Given the description of an element on the screen output the (x, y) to click on. 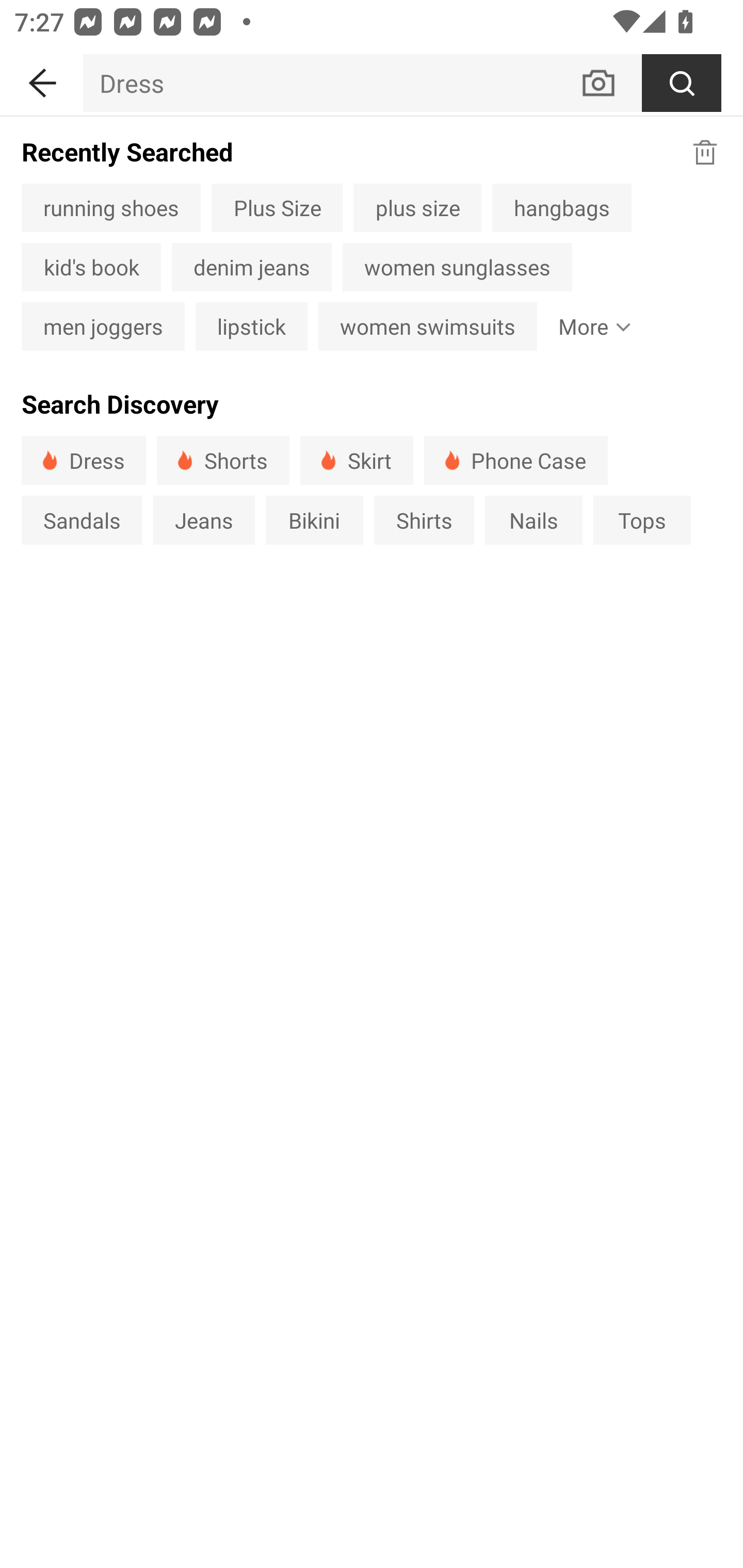
BACK (41, 79)
Dress (330, 82)
running shoes (110, 207)
Plus Size (276, 207)
plus size (417, 207)
hangbags (561, 207)
kid's book (91, 267)
denim jeans (251, 267)
women sunglasses (457, 267)
men joggers (103, 326)
lipstick (251, 326)
women swimsuits (427, 326)
More Show More (589, 326)
Dress (83, 459)
Shorts (222, 459)
Skirt (356, 459)
Phone Case (515, 459)
Sandals (81, 519)
Jeans (203, 519)
Bikini (314, 519)
Shirts (423, 519)
Nails (533, 519)
Tops (641, 519)
